Given the description of an element on the screen output the (x, y) to click on. 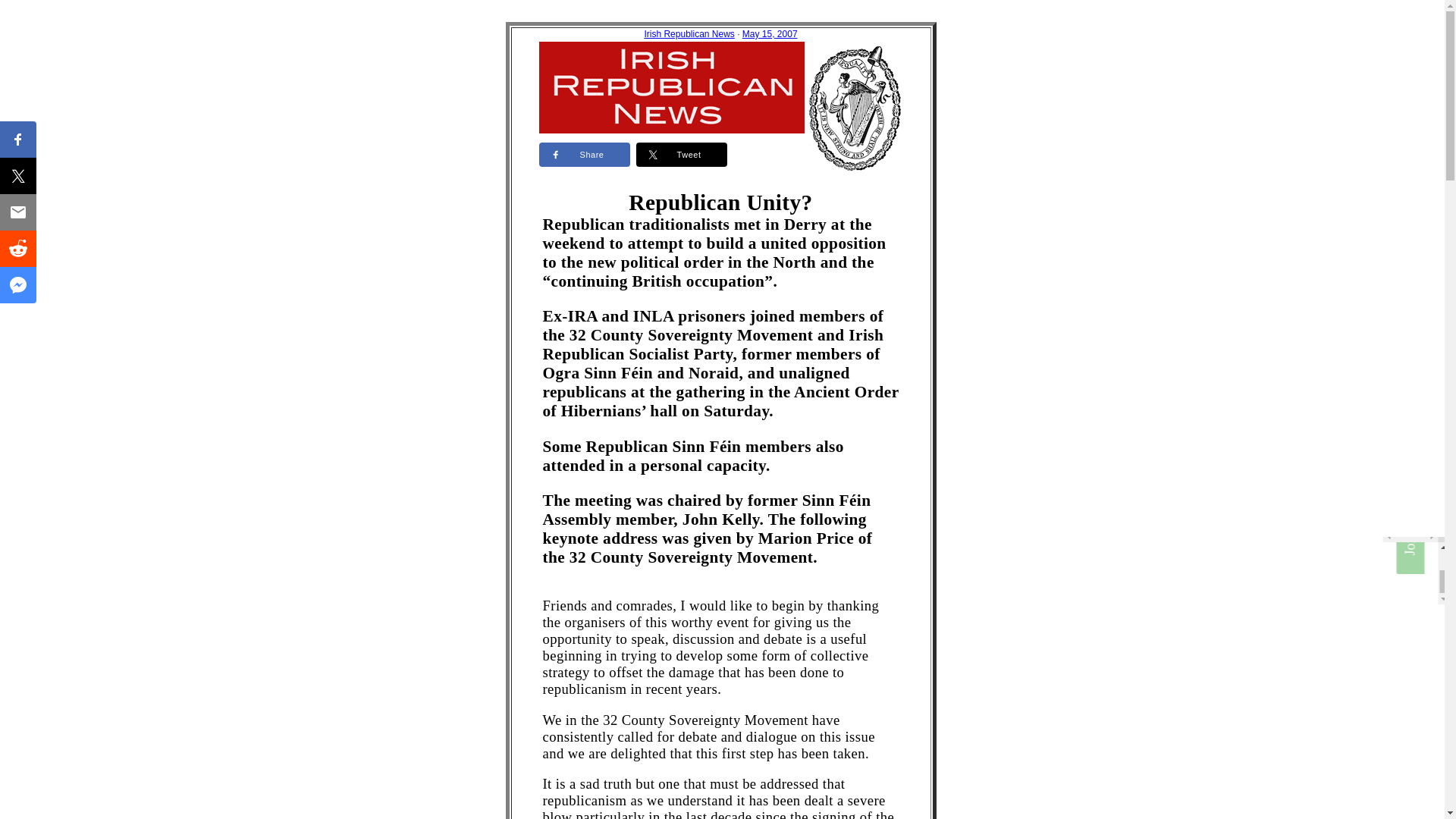
May 15, 2007 (769, 33)
Irish Republican News (688, 33)
